Given the description of an element on the screen output the (x, y) to click on. 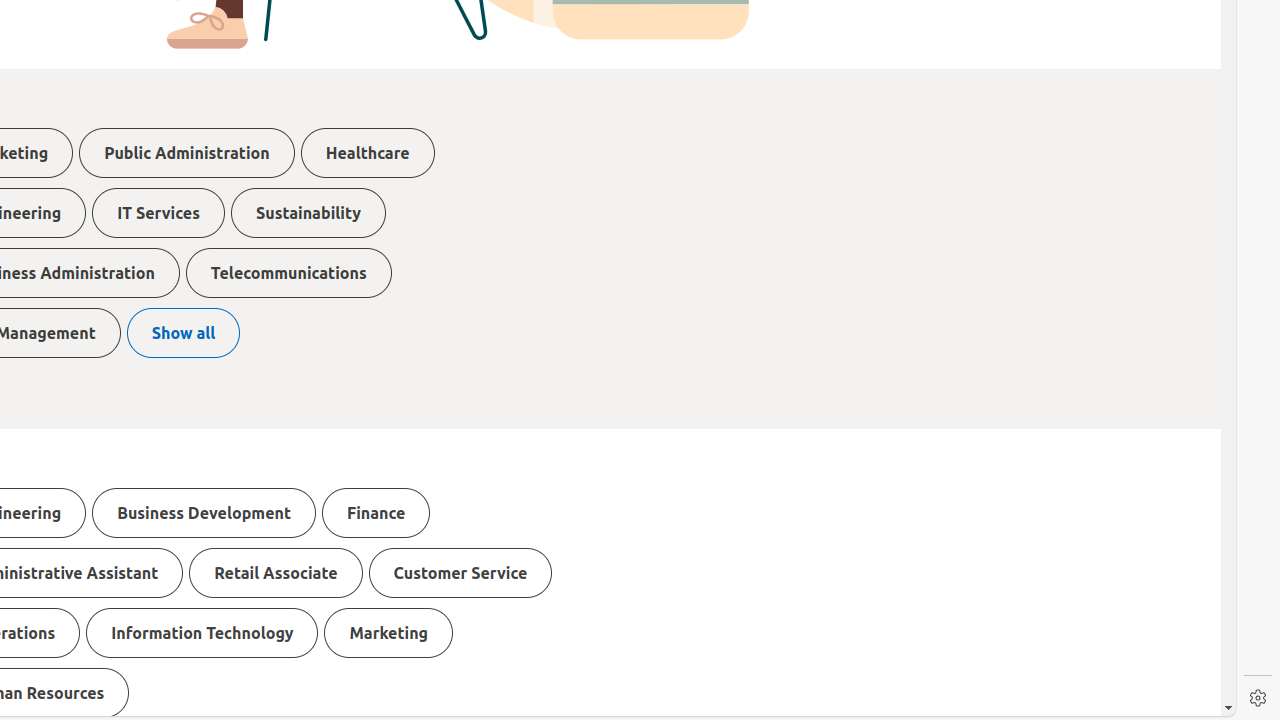
Information Technology Element type: link (202, 633)
Retail Associate Element type: link (276, 573)
Customer Service Element type: link (460, 573)
Business Development Element type: link (204, 513)
Telecommunications Element type: link (288, 273)
